Given the description of an element on the screen output the (x, y) to click on. 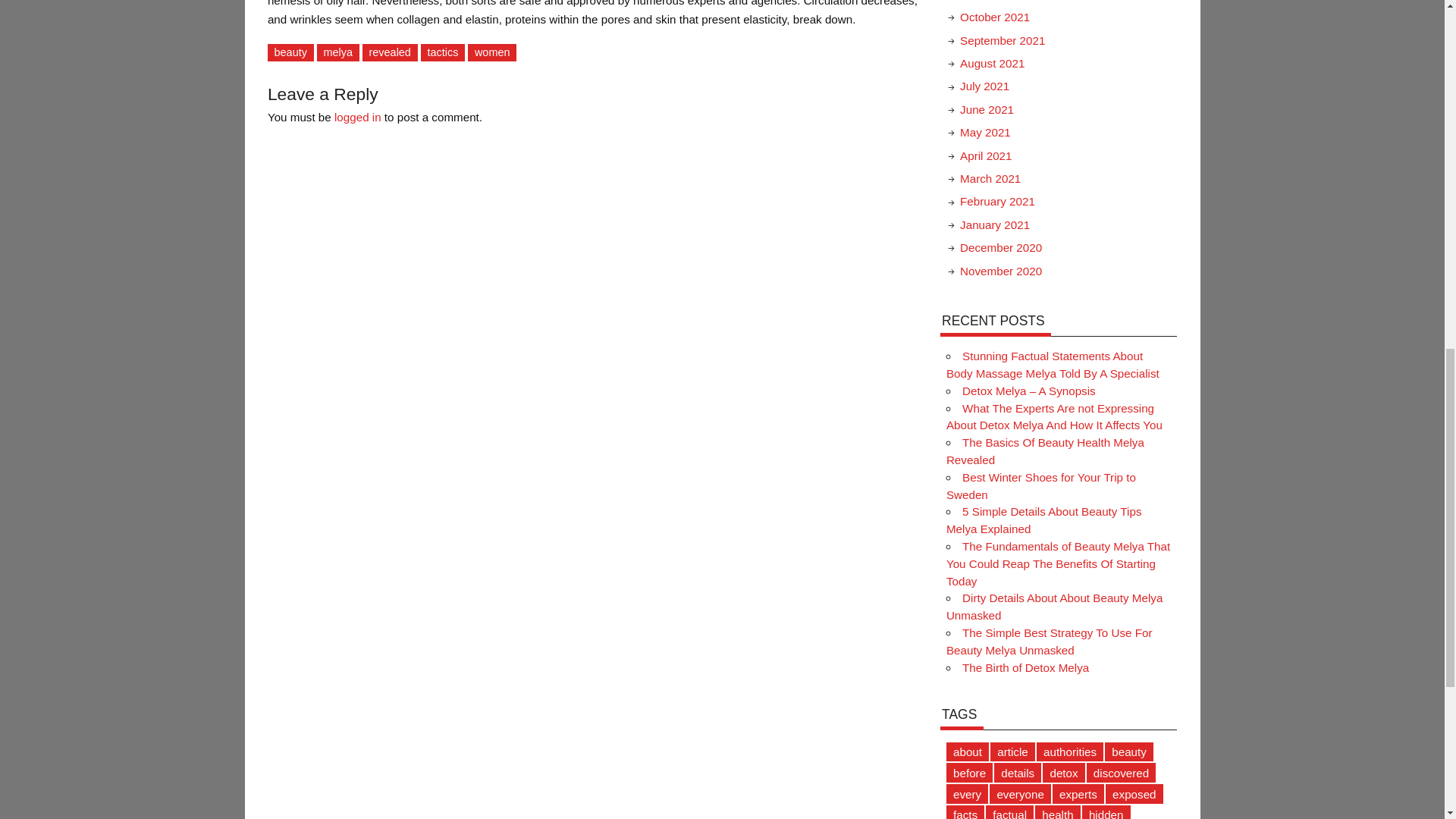
October 2021 (994, 16)
July 2021 (984, 85)
logged in (357, 116)
August 2021 (992, 62)
June 2021 (986, 109)
tactics (442, 52)
beauty (290, 52)
melya (338, 52)
September 2021 (1002, 40)
revealed (389, 52)
women (491, 52)
